Given the description of an element on the screen output the (x, y) to click on. 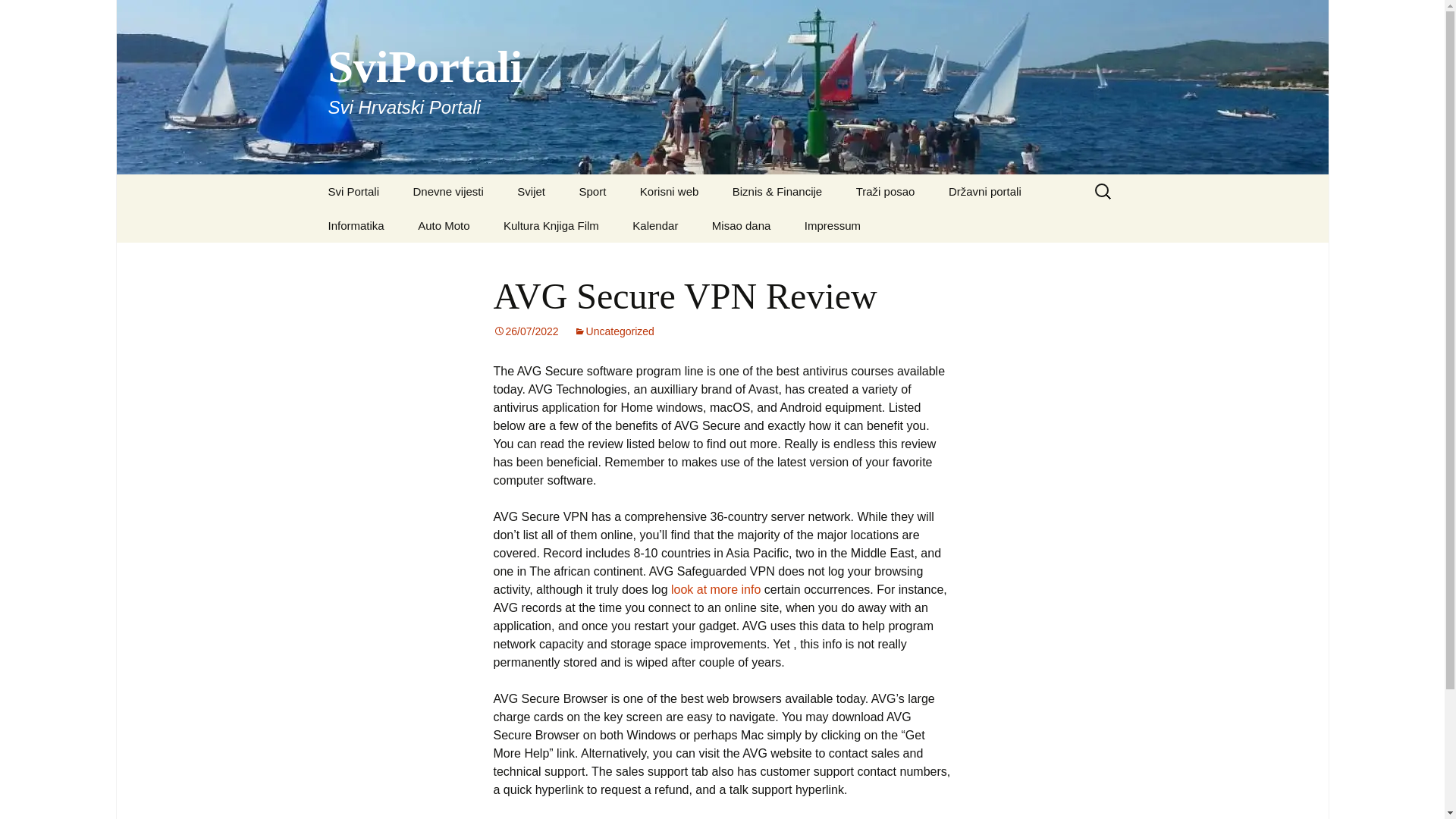
Search (18, 15)
look at more info (715, 589)
Svi Portali (353, 191)
Sport (592, 191)
Korisni web (669, 191)
Auto Moto (443, 225)
Misao dana (741, 225)
Kultura Knjiga Film (550, 225)
Informatika (355, 225)
Dnevne vijesti (832, 225)
Uncategorized (447, 191)
Permalink to AVG Secure VPN Review (613, 331)
